Given the description of an element on the screen output the (x, y) to click on. 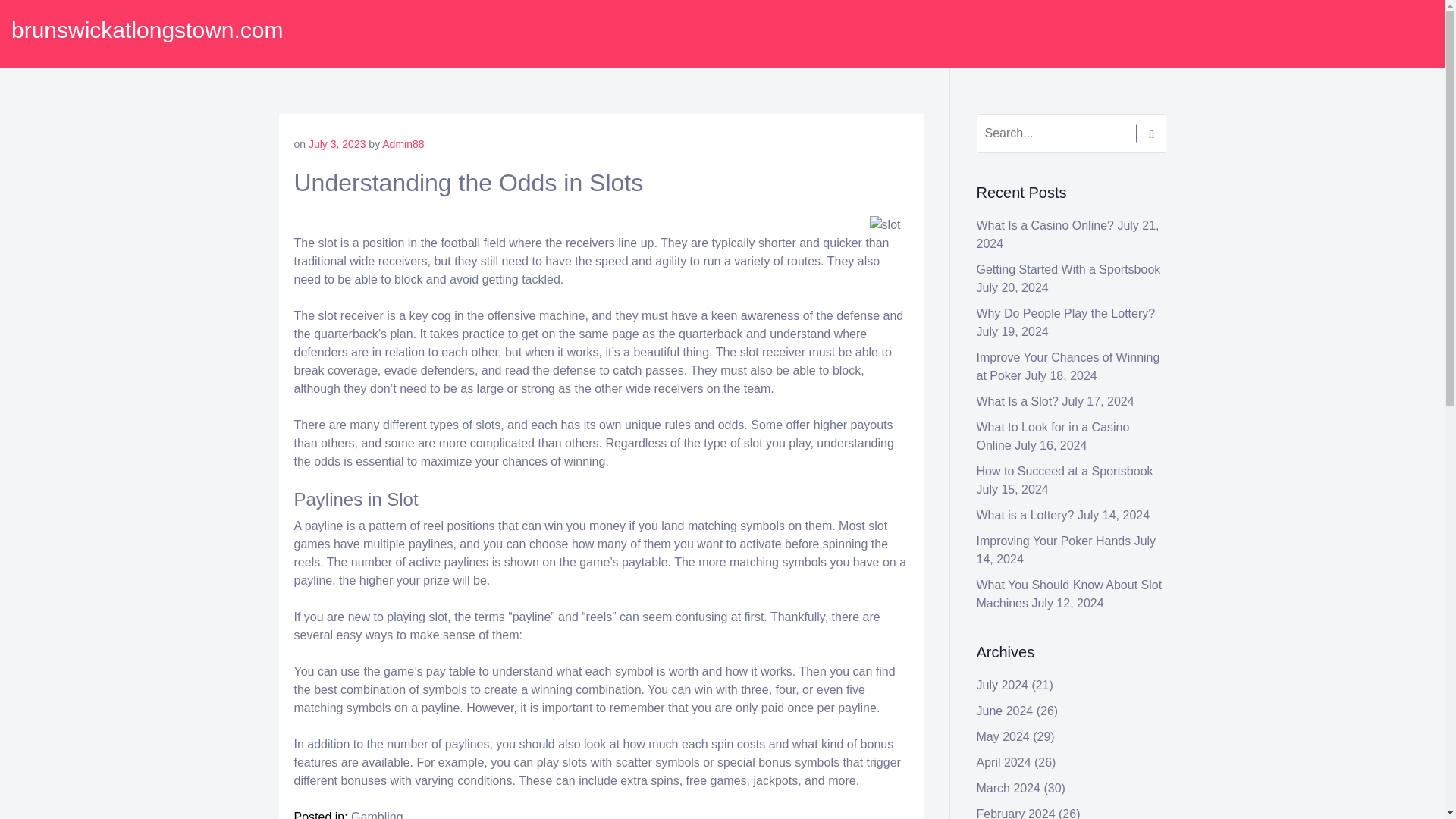
March 2024 (1008, 788)
April 2024 (1003, 762)
Improving Your Poker Hands (1053, 540)
How to Succeed at a Sportsbook (1064, 471)
Improve Your Chances of Winning at Poker (1068, 366)
What You Should Know About Slot Machines (1068, 593)
Why Do People Play the Lottery? (1066, 313)
brunswickatlongstown.com (147, 29)
Admin88 (402, 143)
What to Look for in a Casino Online (1052, 436)
